Given the description of an element on the screen output the (x, y) to click on. 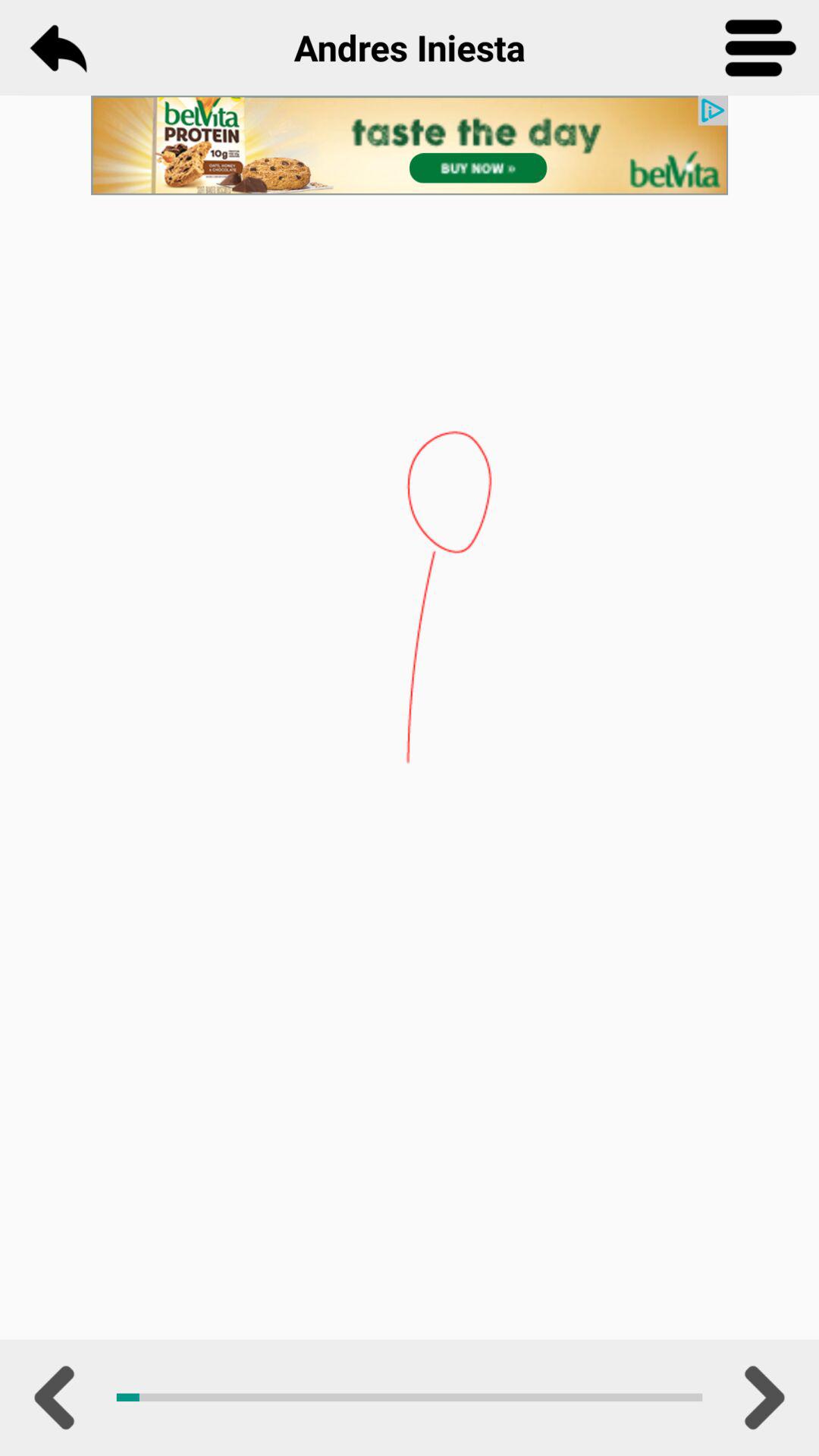
toggle menu (760, 47)
